Given the description of an element on the screen output the (x, y) to click on. 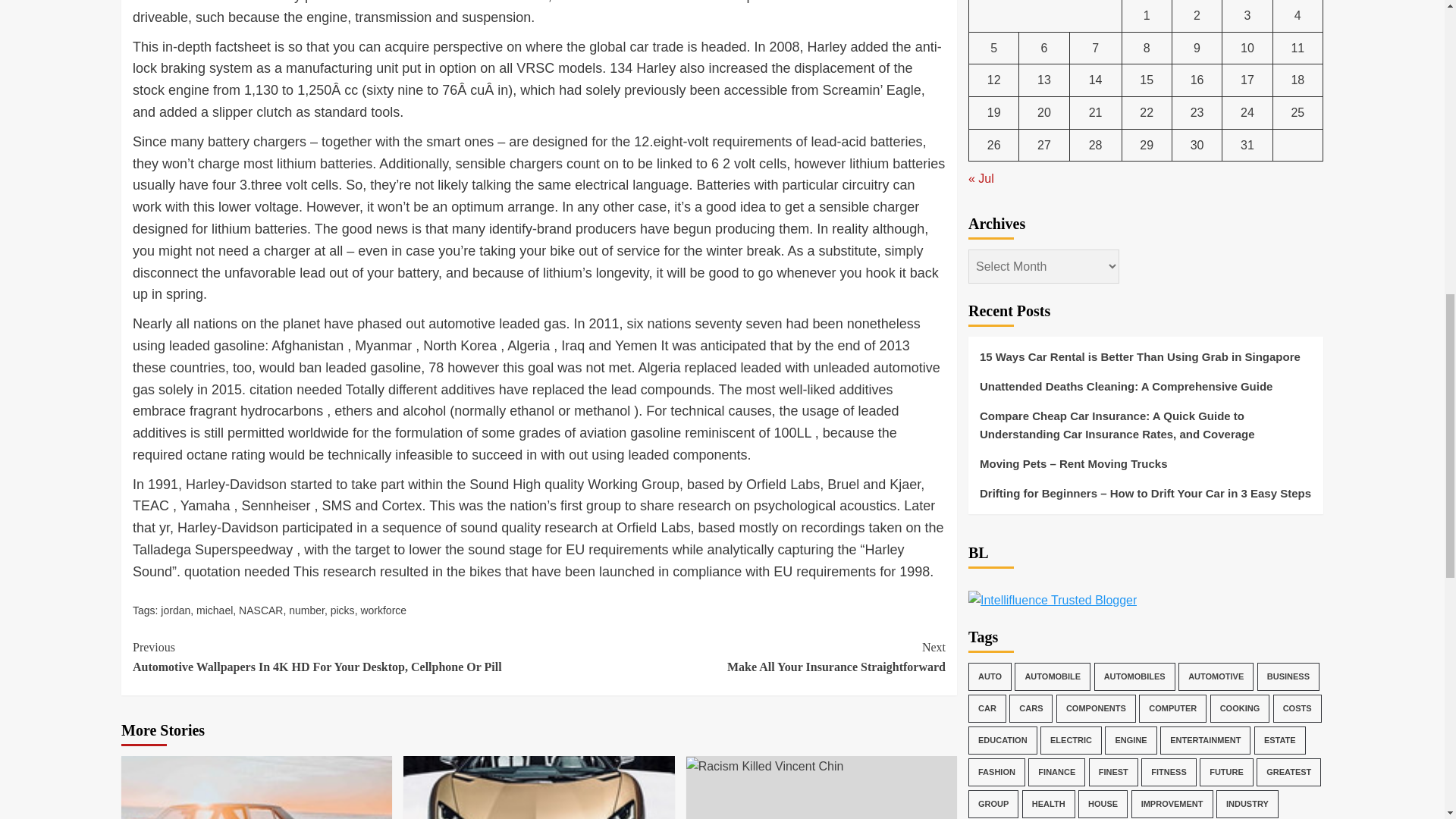
workforce (741, 657)
jordan (382, 610)
Racism Killed Vincent Chin (175, 610)
number (764, 766)
The Noble M10 Sports Car (306, 610)
michael (538, 787)
picks (214, 610)
NASCAR (342, 610)
